Given the description of an element on the screen output the (x, y) to click on. 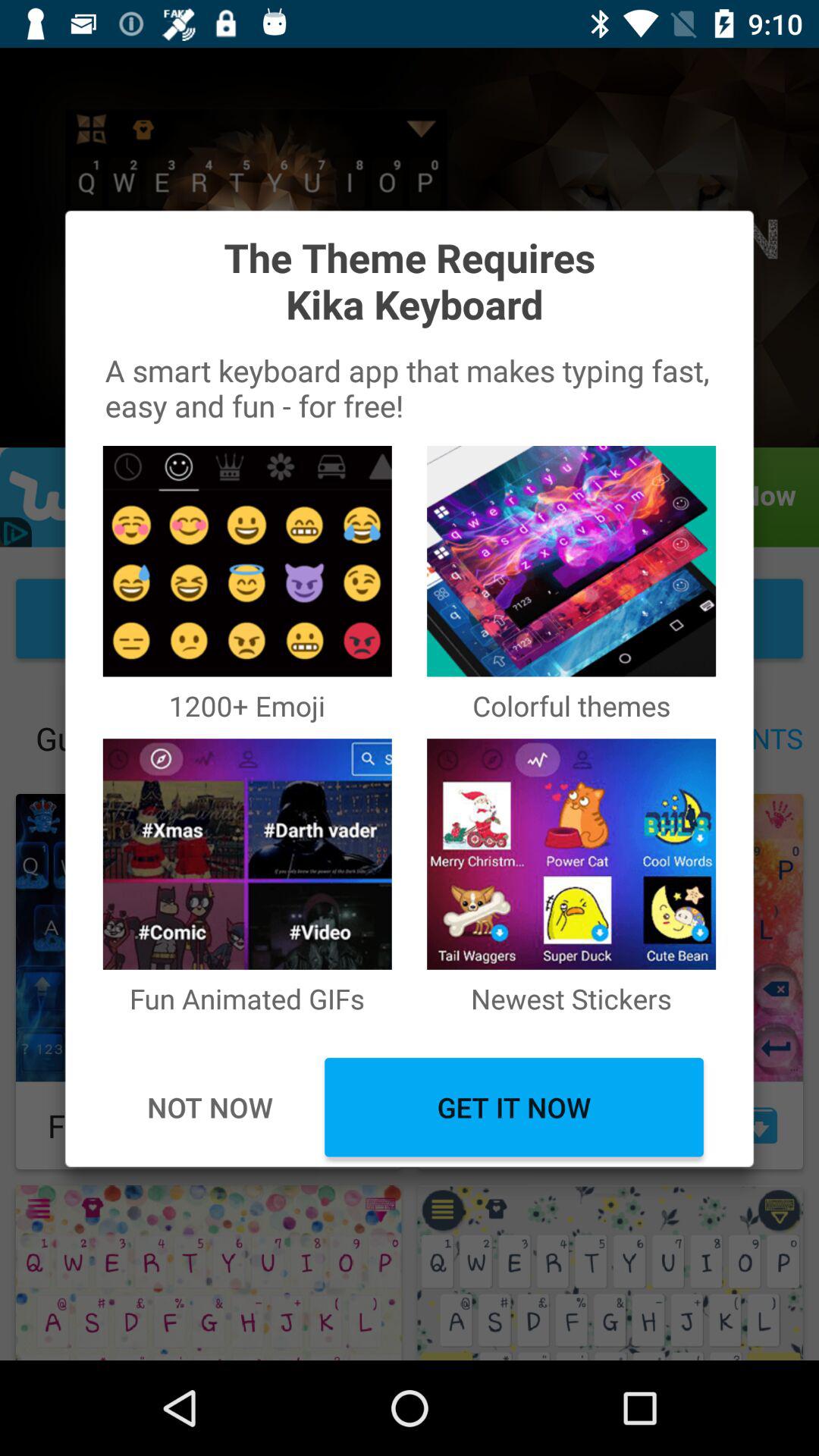
select item to the left of the get it now (209, 1106)
